Given the description of an element on the screen output the (x, y) to click on. 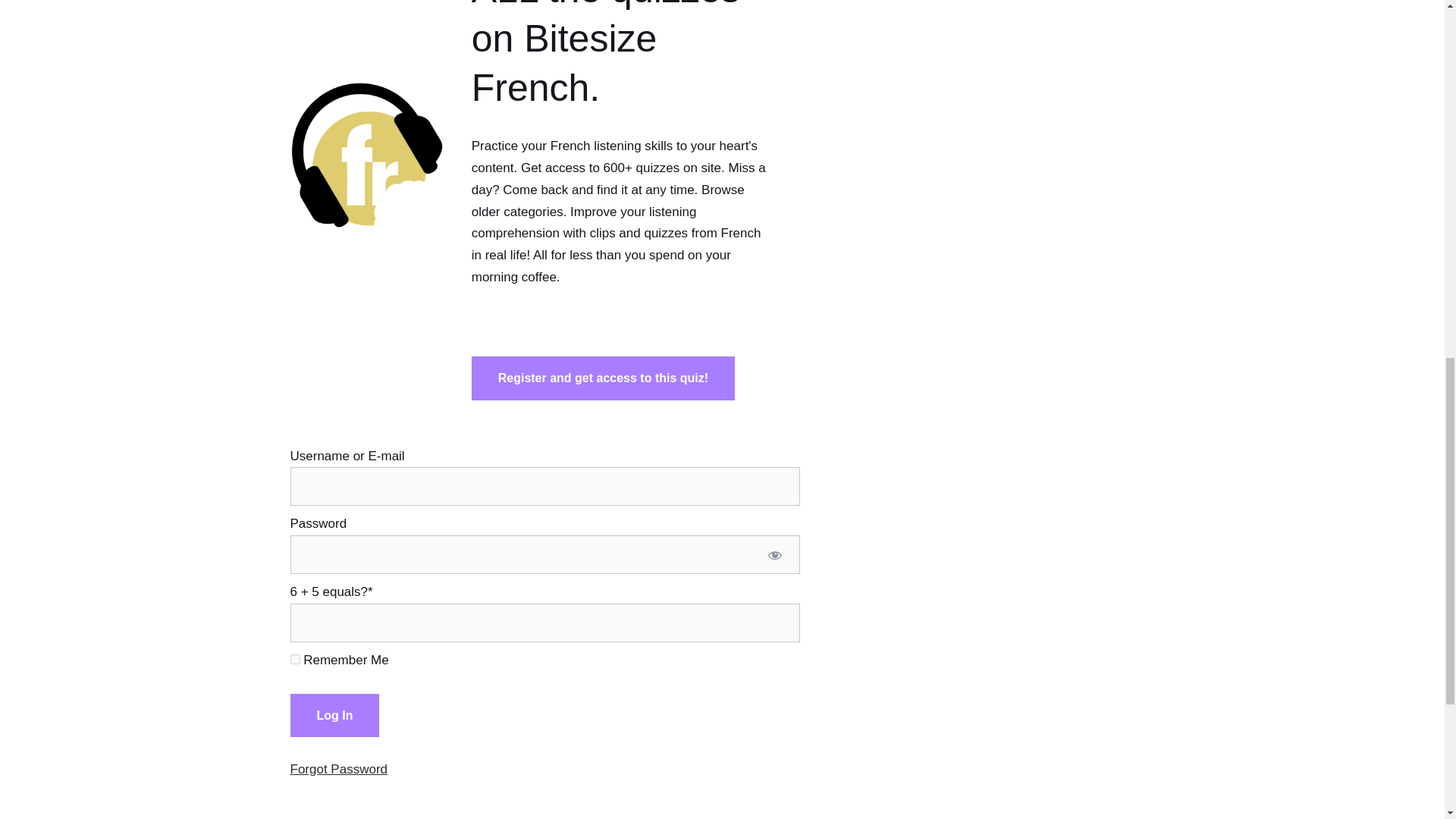
Log In (333, 715)
forever (294, 659)
Register and get access to this quiz! (603, 378)
Forgot Password (338, 769)
Log In (333, 715)
